Given the description of an element on the screen output the (x, y) to click on. 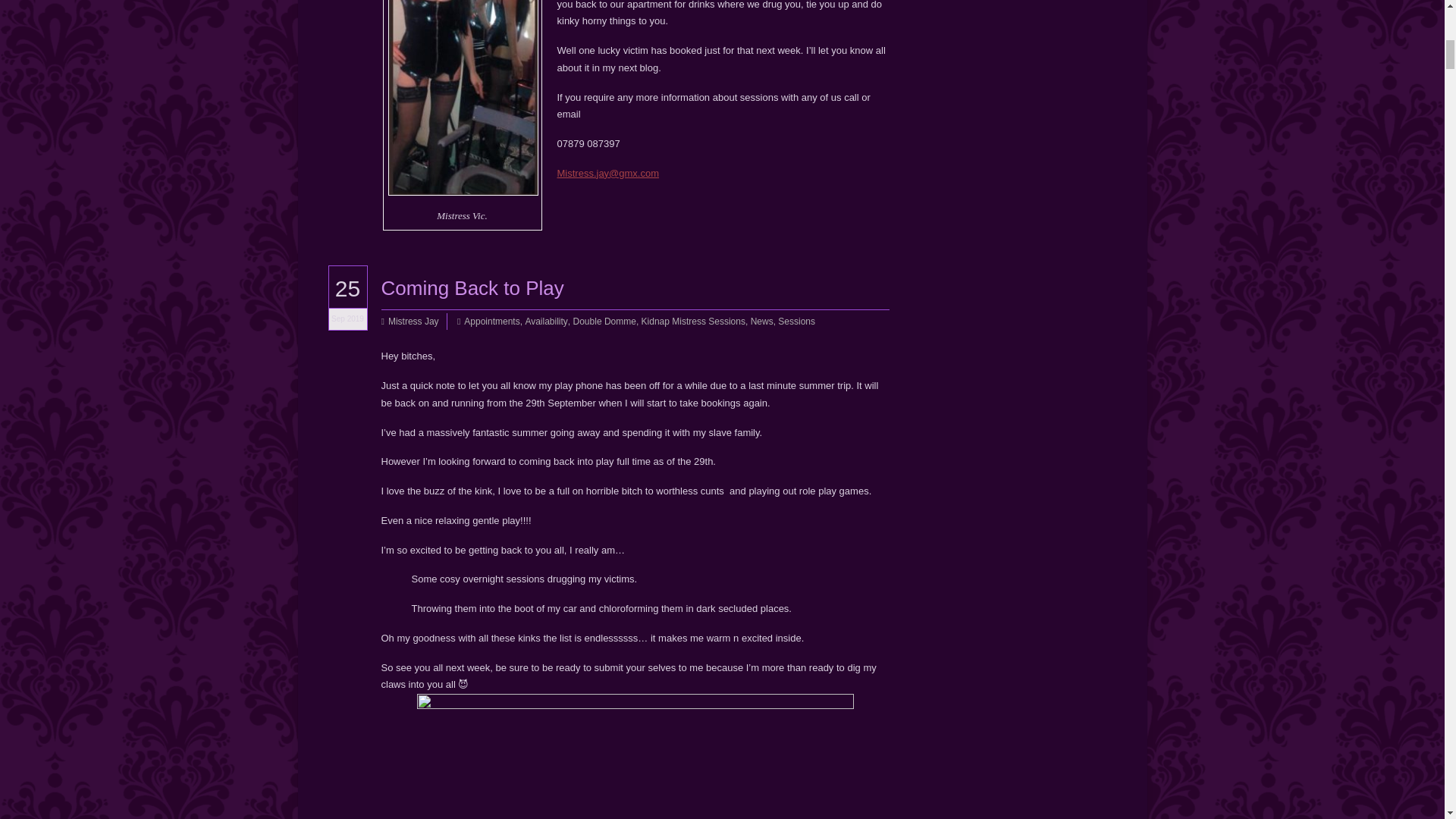
Kidnap Mistress Sessions (693, 321)
Appointments (491, 321)
Double Domme (604, 321)
Coming Back to Play (471, 287)
Availability (545, 321)
Posts by Mistress Jay (413, 321)
Sessions (796, 321)
Mistress Jay (413, 321)
News (762, 321)
